Given the description of an element on the screen output the (x, y) to click on. 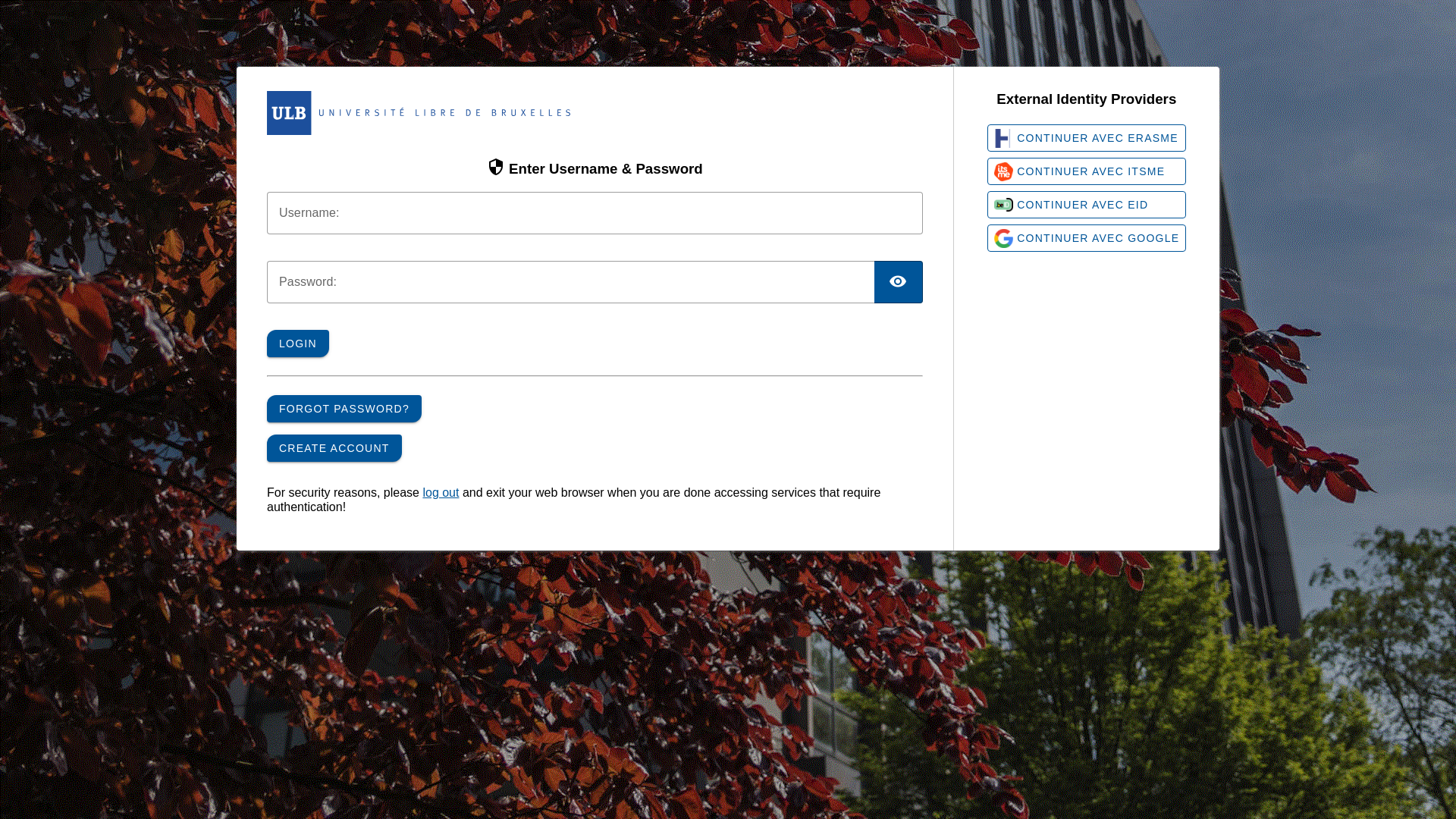
log out Element type: text (440, 492)
 CONTINUER AVEC ITSME Element type: text (1086, 171)
FORGOT PASSWORD? Element type: text (343, 408)
 CONTINUER AVEC GOOGLE Element type: text (1086, 237)
TOGGLE PASSWORD Element type: text (898, 281)
LOGIN Element type: text (297, 343)
 CONTINUER AVEC EID Element type: text (1086, 204)
CREATE ACCOUNT Element type: text (333, 447)
 CONTINUER AVEC ERASME Element type: text (1086, 137)
